Given the description of an element on the screen output the (x, y) to click on. 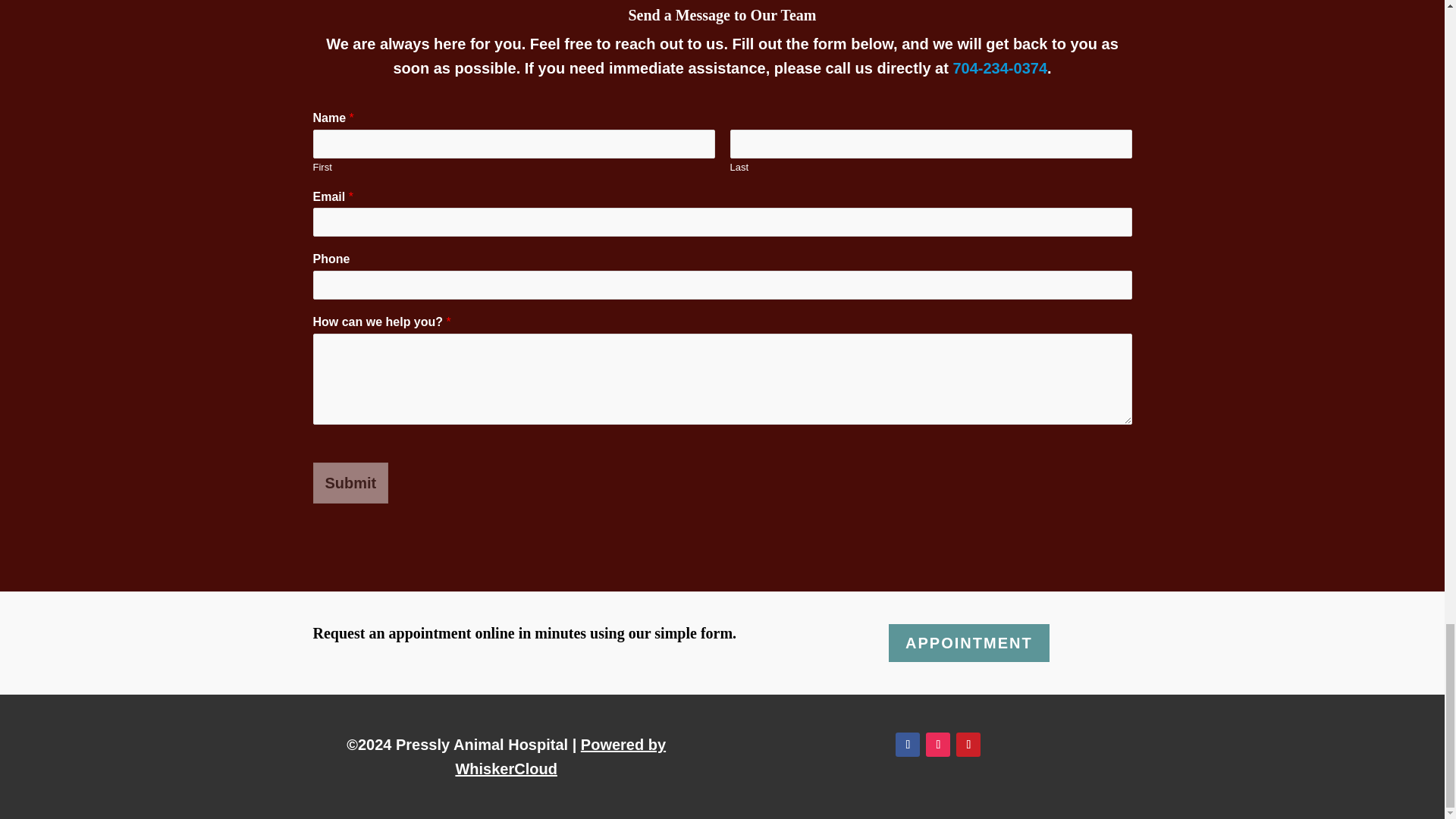
Follow on Instagram (938, 744)
Follow on Facebook (907, 744)
Follow on Pinterest (967, 744)
